Given the description of an element on the screen output the (x, y) to click on. 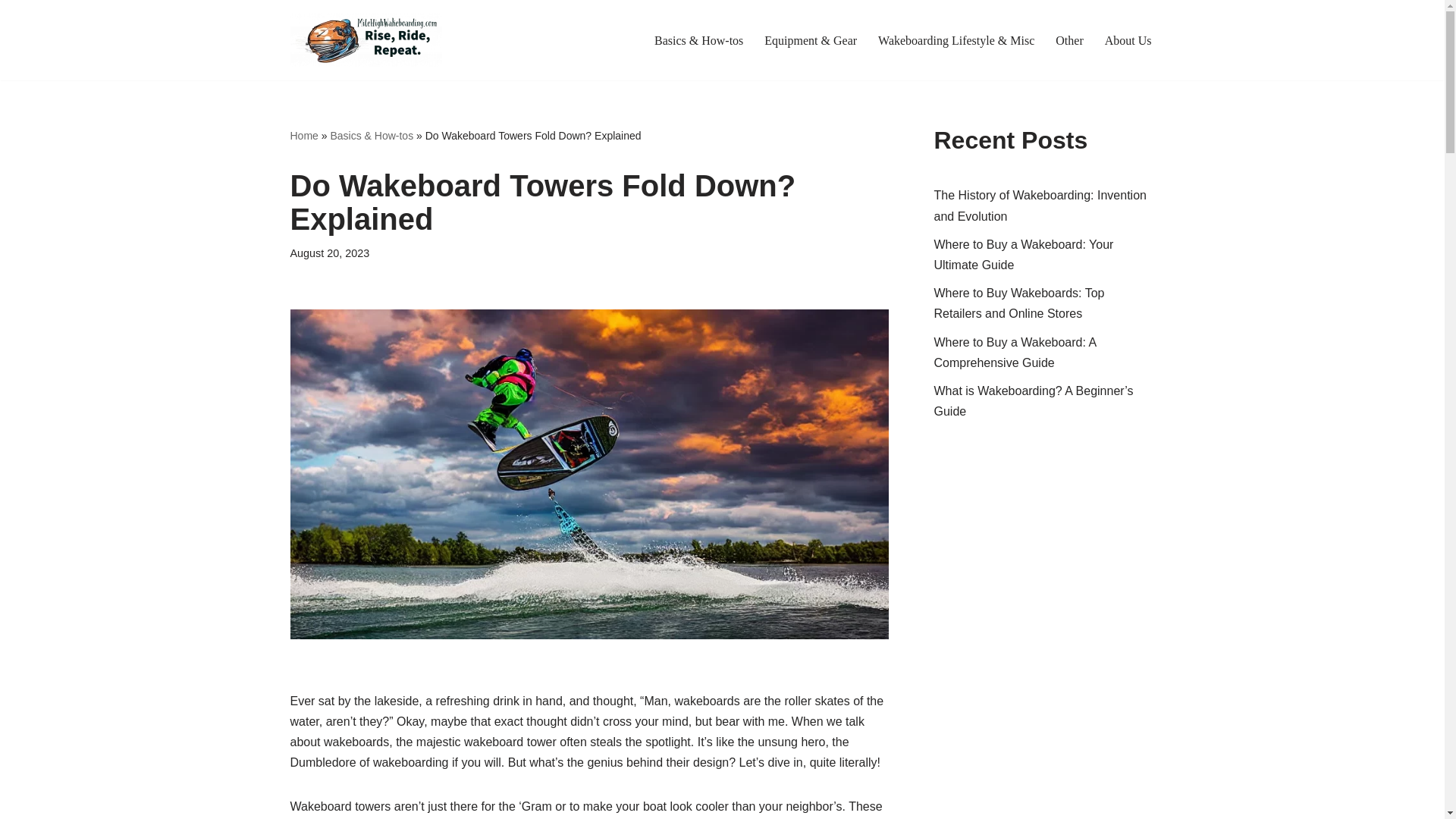
Skip to content (11, 31)
The History of Wakeboarding: Invention and Evolution (1040, 205)
Other (1069, 40)
Where to Buy a Wakeboard: A Comprehensive Guide (1015, 352)
Where to Buy Wakeboards: Top Retailers and Online Stores (1019, 303)
Home (303, 135)
Where to Buy a Wakeboard: Your Ultimate Guide (1023, 254)
About Us (1128, 40)
